Given the description of an element on the screen output the (x, y) to click on. 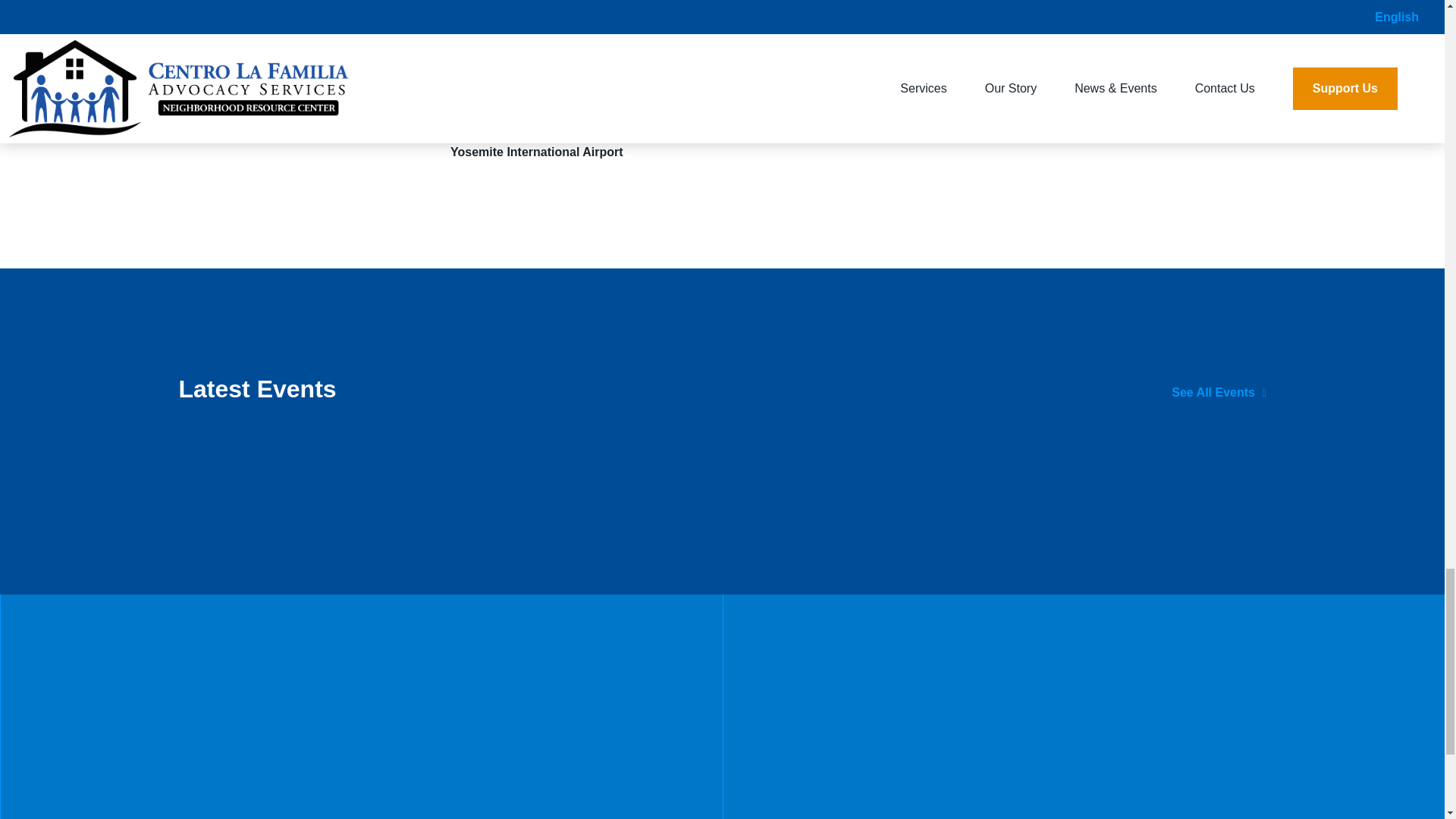
See All Events (1218, 391)
